Given the description of an element on the screen output the (x, y) to click on. 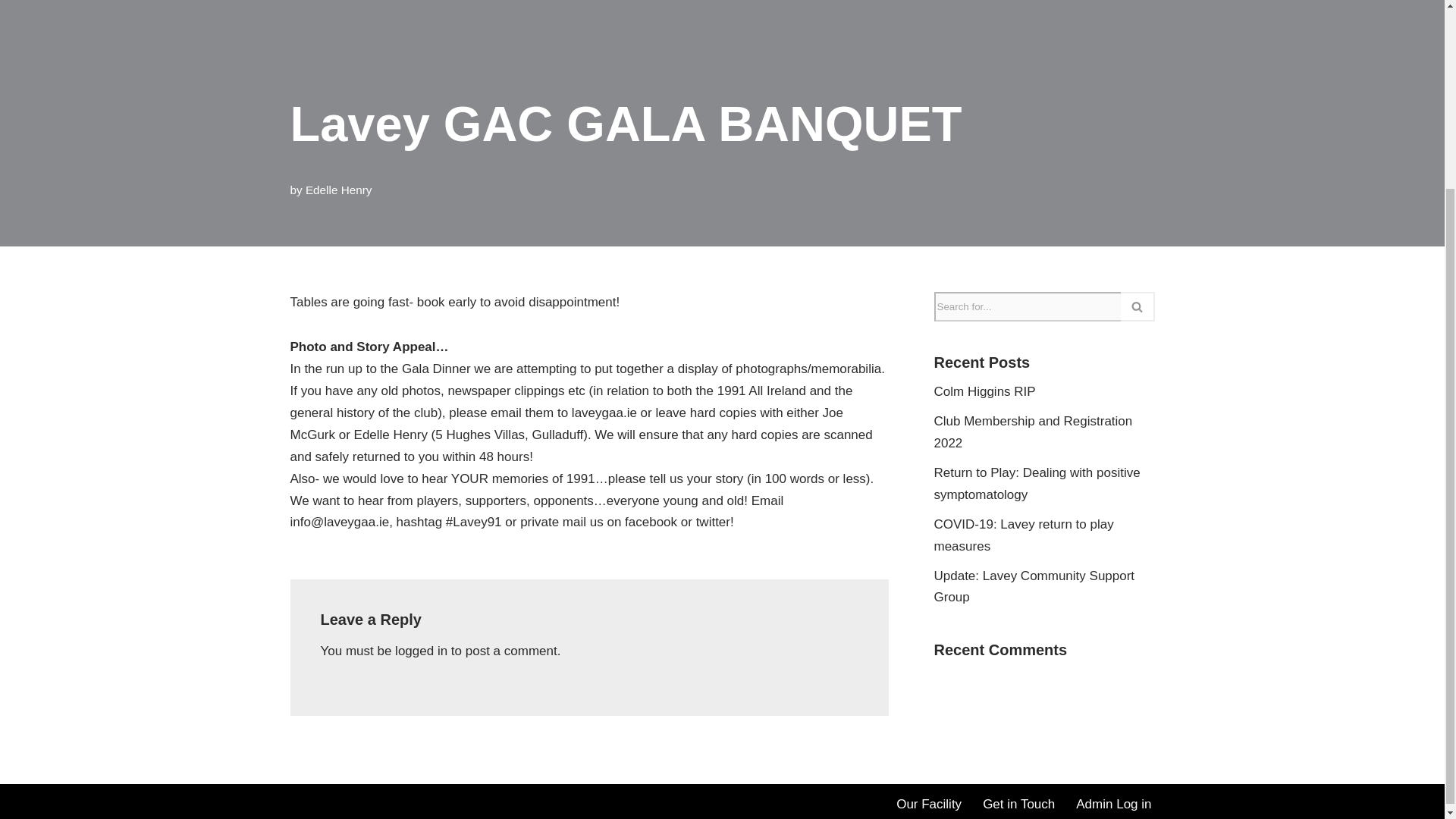
Edelle Henry (338, 189)
Posts by Edelle Henry (338, 189)
